Given the description of an element on the screen output the (x, y) to click on. 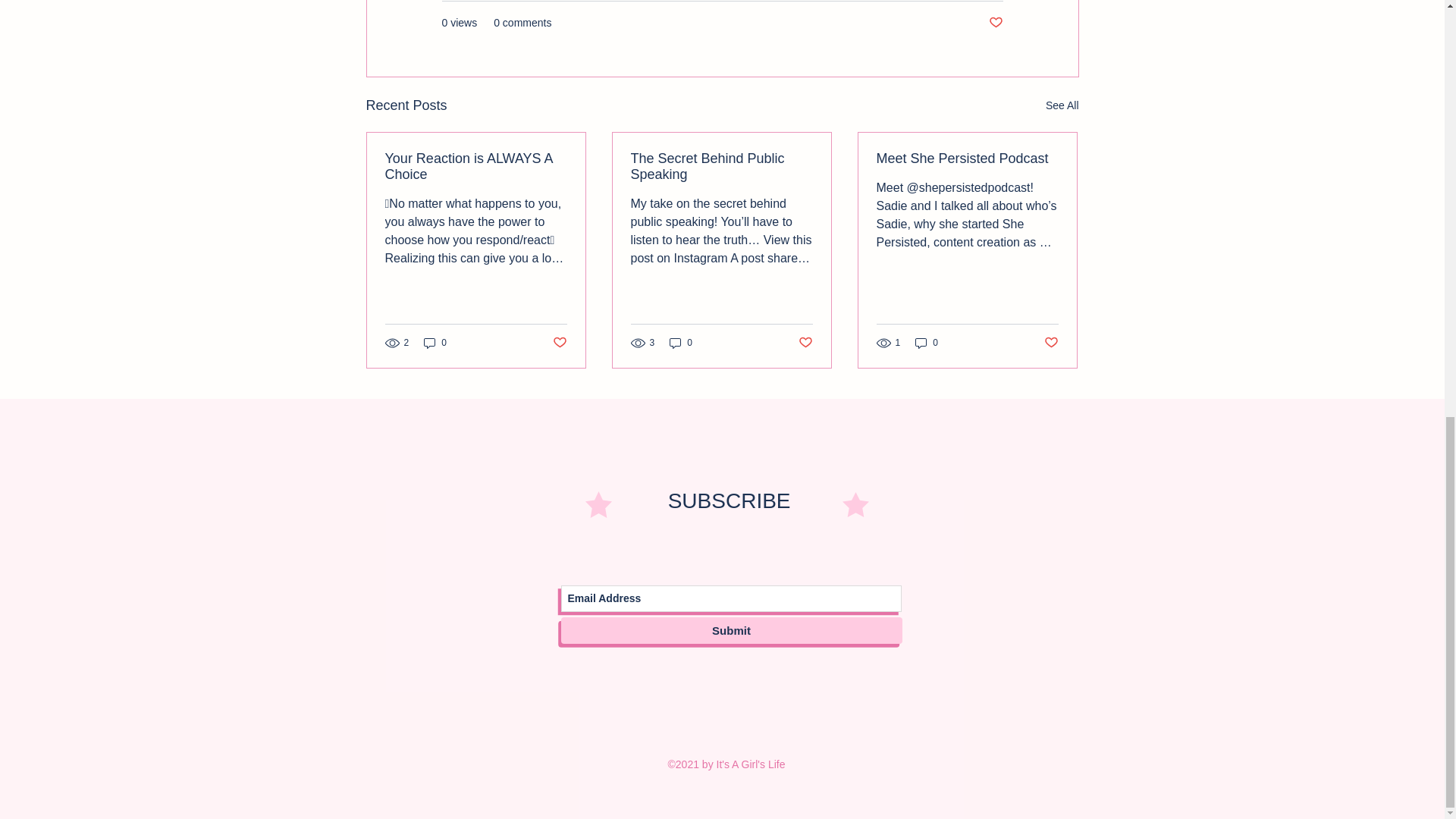
Post not marked as liked (995, 23)
See All (1061, 106)
Your Reaction is ALWAYS A Choice (476, 166)
